Given the description of an element on the screen output the (x, y) to click on. 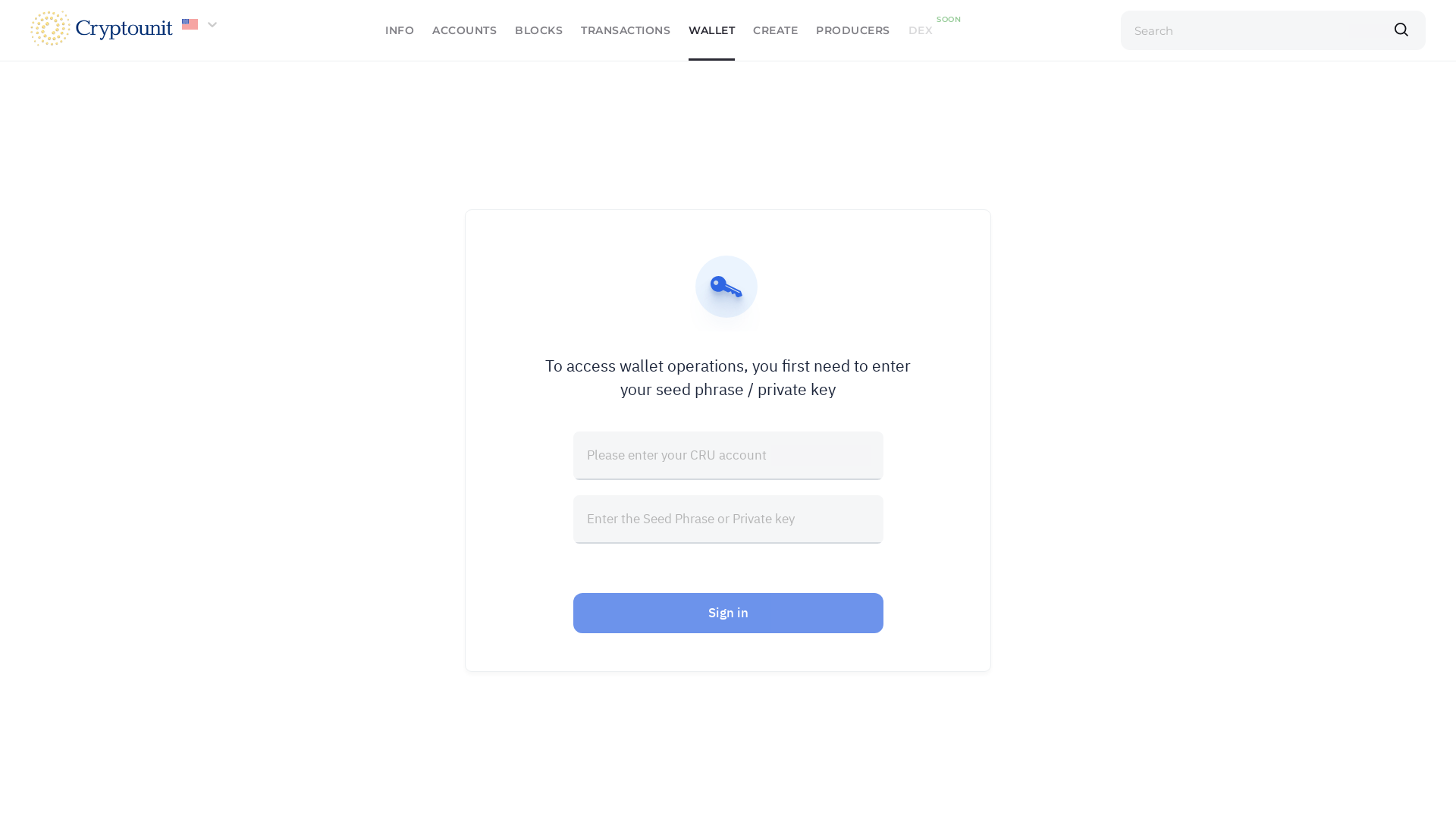
PRODUCERS Element type: text (852, 30)
WALLET Element type: text (711, 30)
ACCOUNTS Element type: text (464, 30)
DEX
SOON Element type: text (920, 30)
CREATE Element type: text (775, 30)
TRANSACTIONS Element type: text (625, 30)
INFO Element type: text (399, 30)
BLOCKS Element type: text (538, 30)
Sign in Element type: text (728, 613)
